Given the description of an element on the screen output the (x, y) to click on. 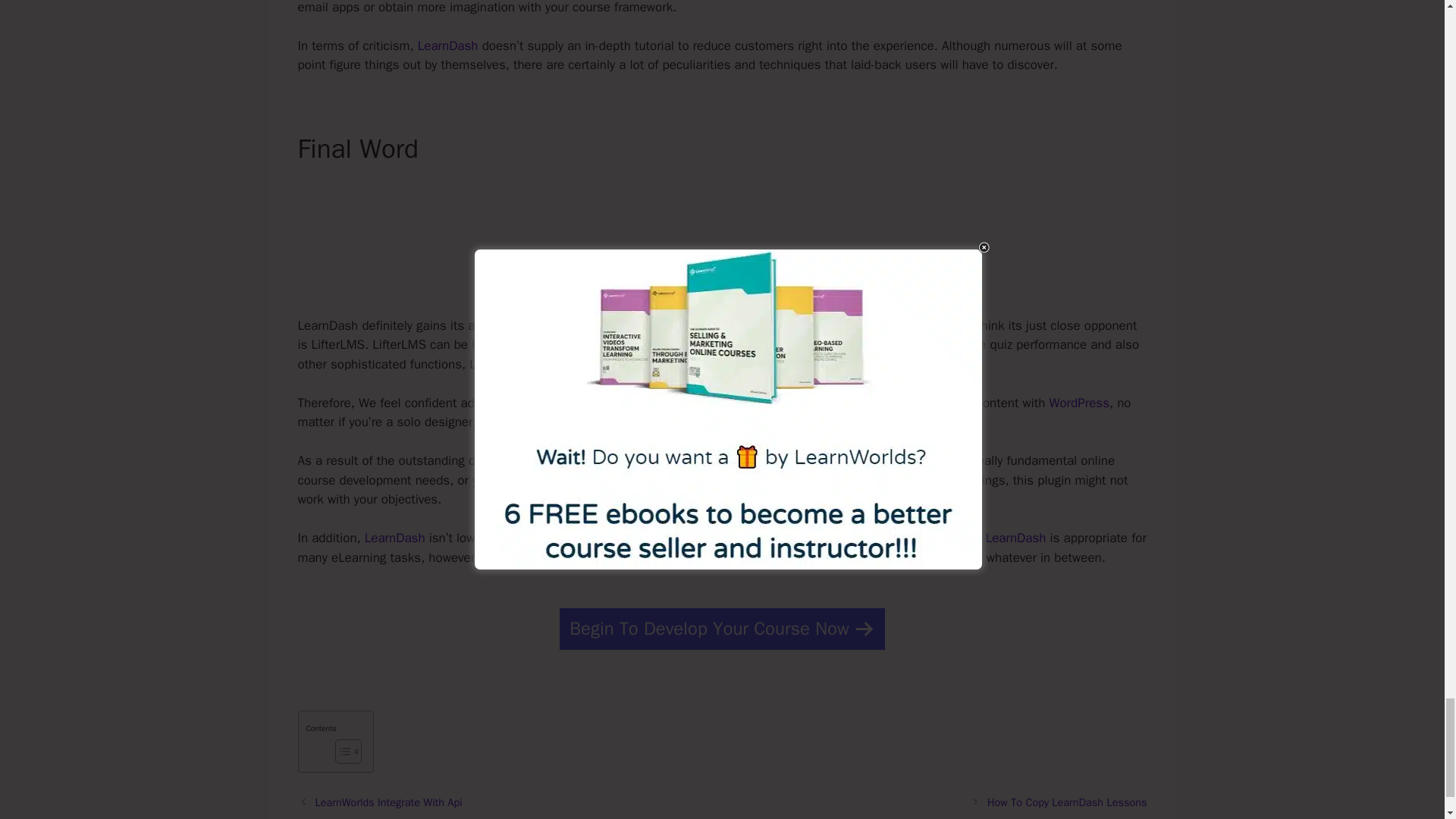
online course (908, 402)
LearnDash (395, 537)
LearnDash (1015, 537)
LearnWorlds Integrate With Api (389, 802)
WordPress (1079, 402)
How To Copy LearnDash Lessons (1067, 802)
a worker training (643, 421)
Begin To Develop Your Course Now (722, 629)
LearnDash (448, 45)
